Given the description of an element on the screen output the (x, y) to click on. 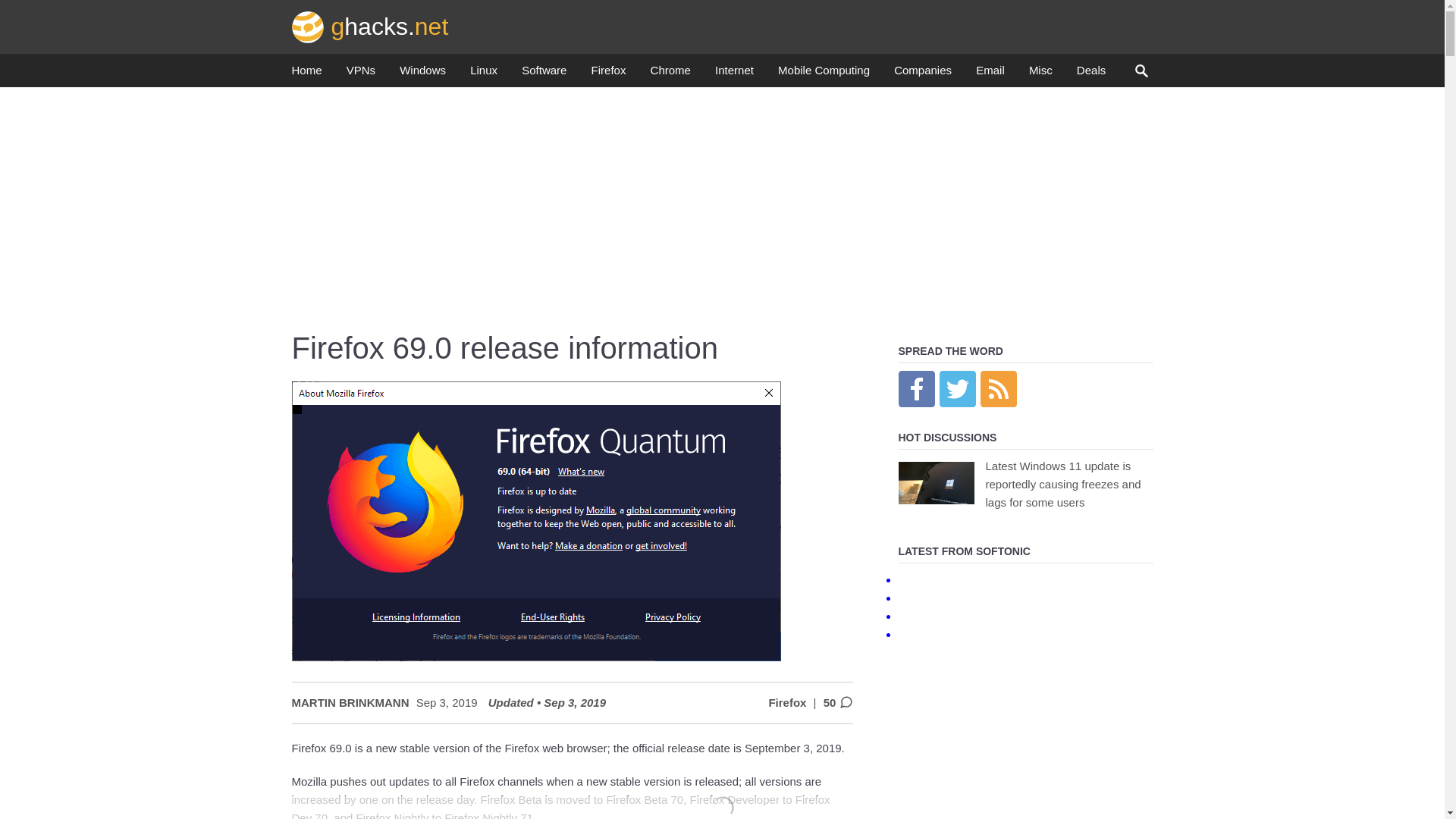
Windows (421, 73)
Home (306, 73)
Chrome (670, 73)
Firefox (608, 73)
Mobile Computing (823, 73)
Deals (1091, 73)
Companies (922, 73)
Linux (483, 73)
Software (543, 73)
Misc (1040, 73)
